Given the description of an element on the screen output the (x, y) to click on. 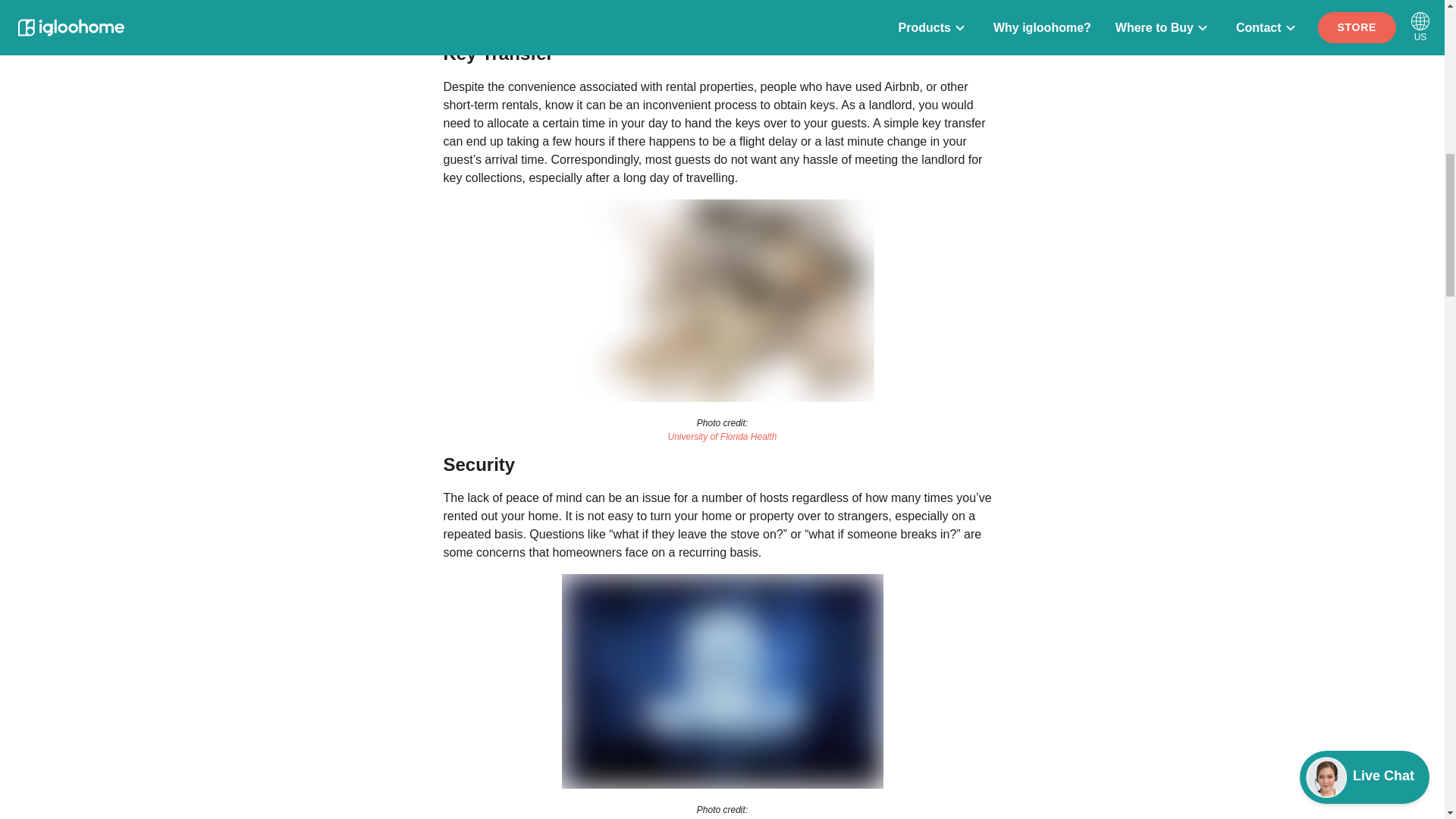
University of Florida Health (721, 436)
